Given the description of an element on the screen output the (x, y) to click on. 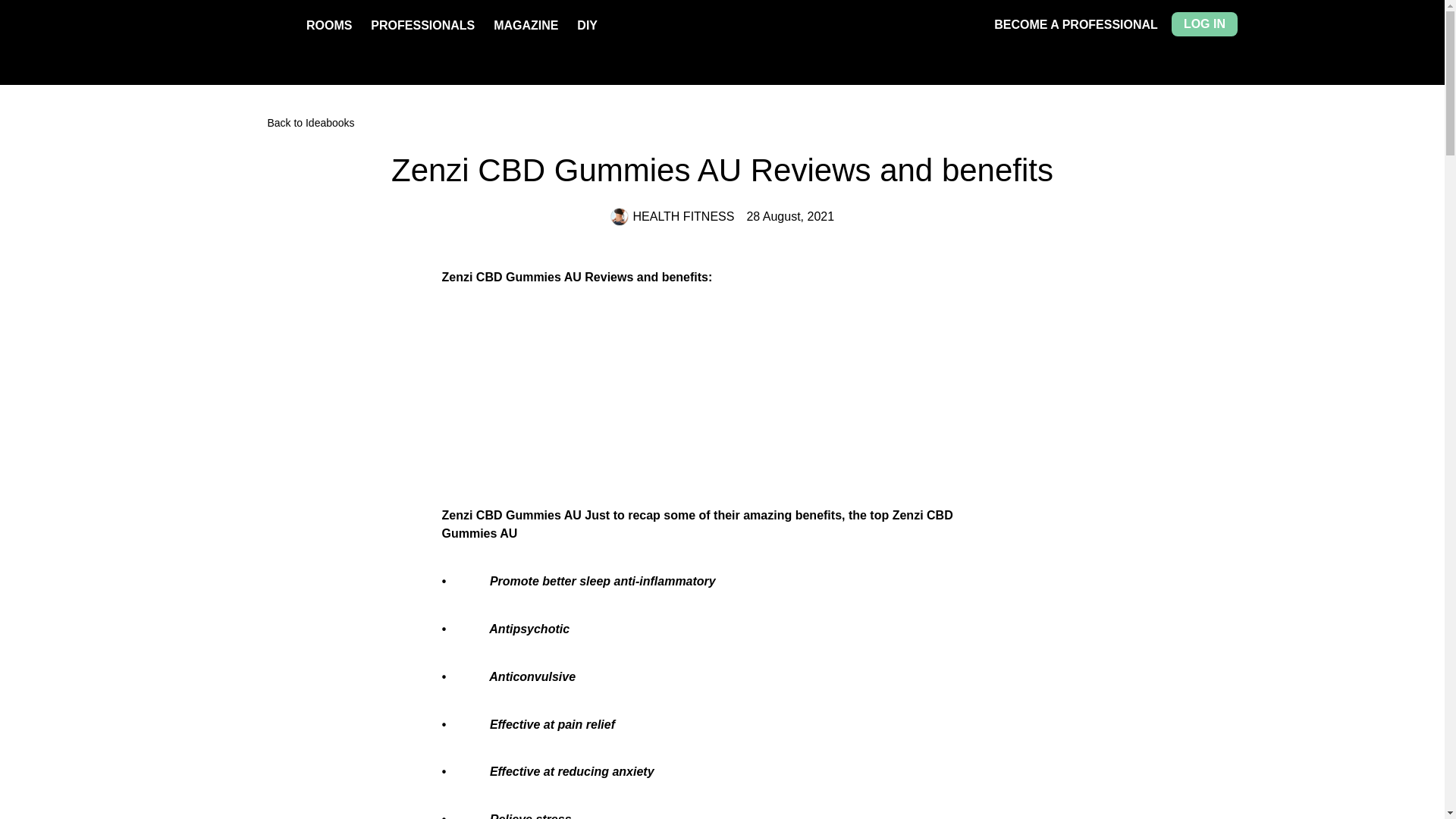
HEALTH FITNESS (672, 217)
Back to Ideabooks (721, 122)
MAGAZINE (525, 25)
LOG IN (1204, 24)
PROFESSIONALS (422, 25)
DIY (586, 25)
BECOME A PROFESSIONAL (1075, 23)
ROOMS (328, 25)
